Given the description of an element on the screen output the (x, y) to click on. 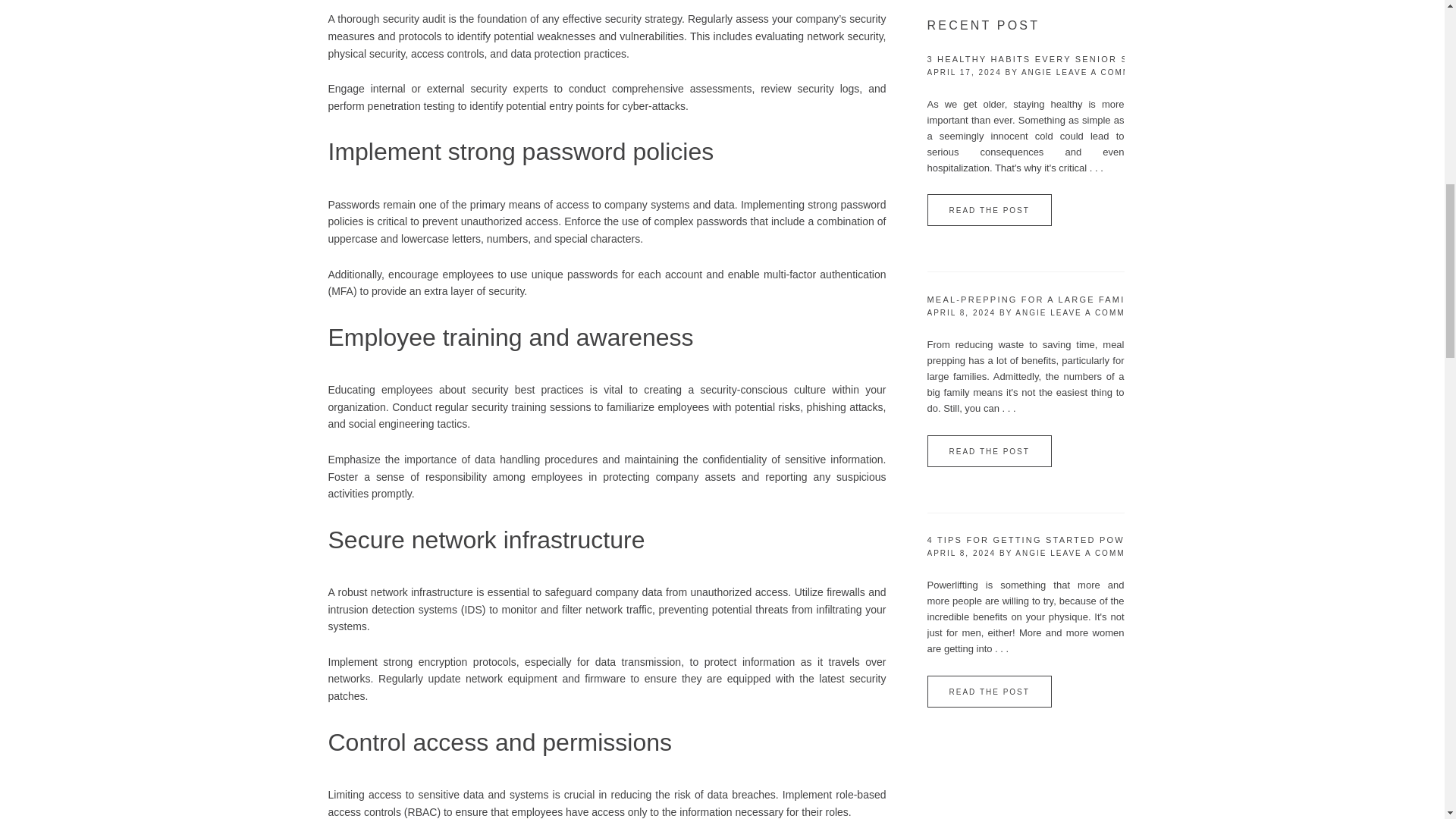
A robust network infrastructure is essential (428, 592)
